Given the description of an element on the screen output the (x, y) to click on. 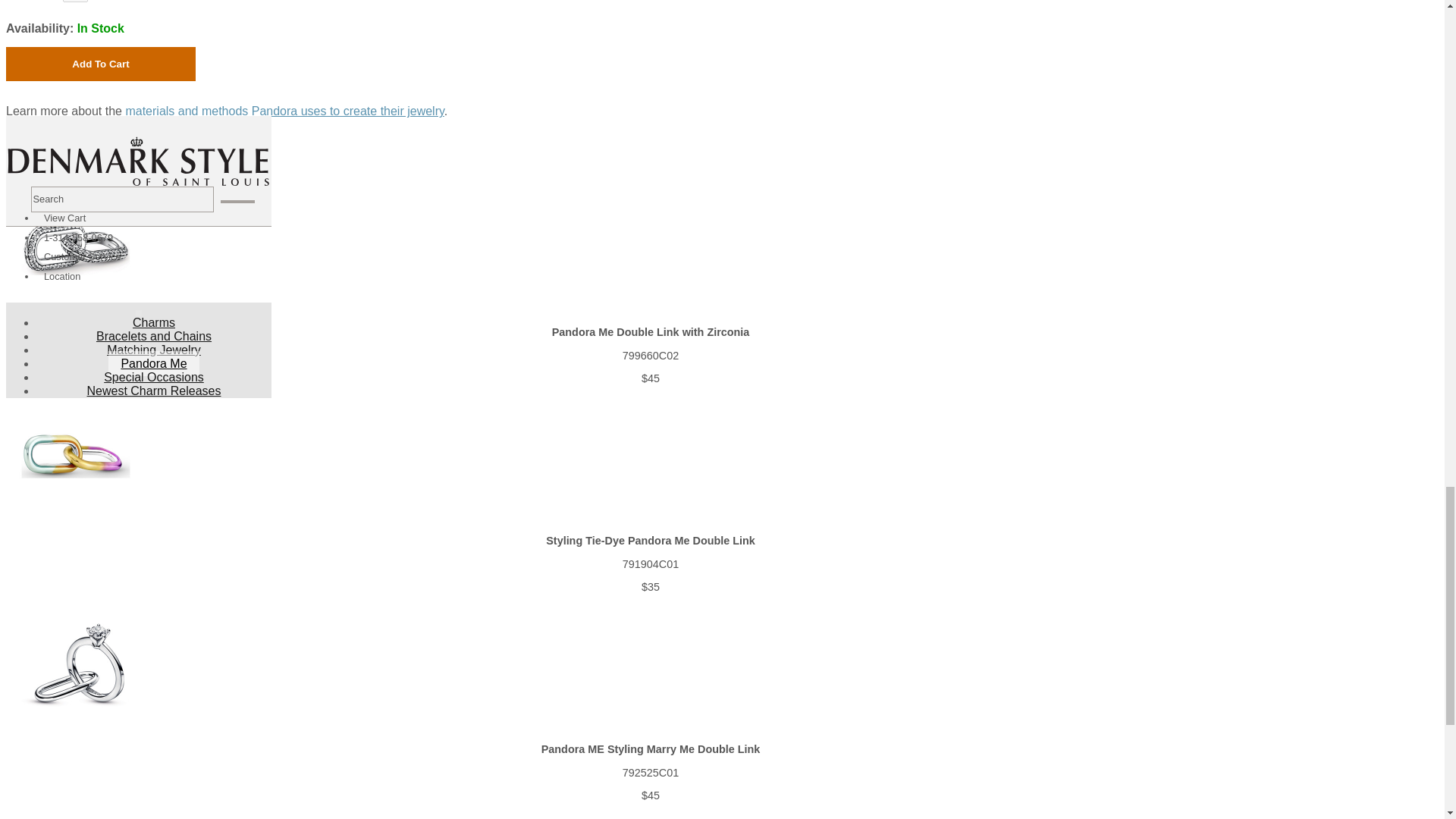
materials and methods Pandora uses to create their jewelry (284, 110)
Add To Cart (100, 63)
1 (74, 1)
